Given the description of an element on the screen output the (x, y) to click on. 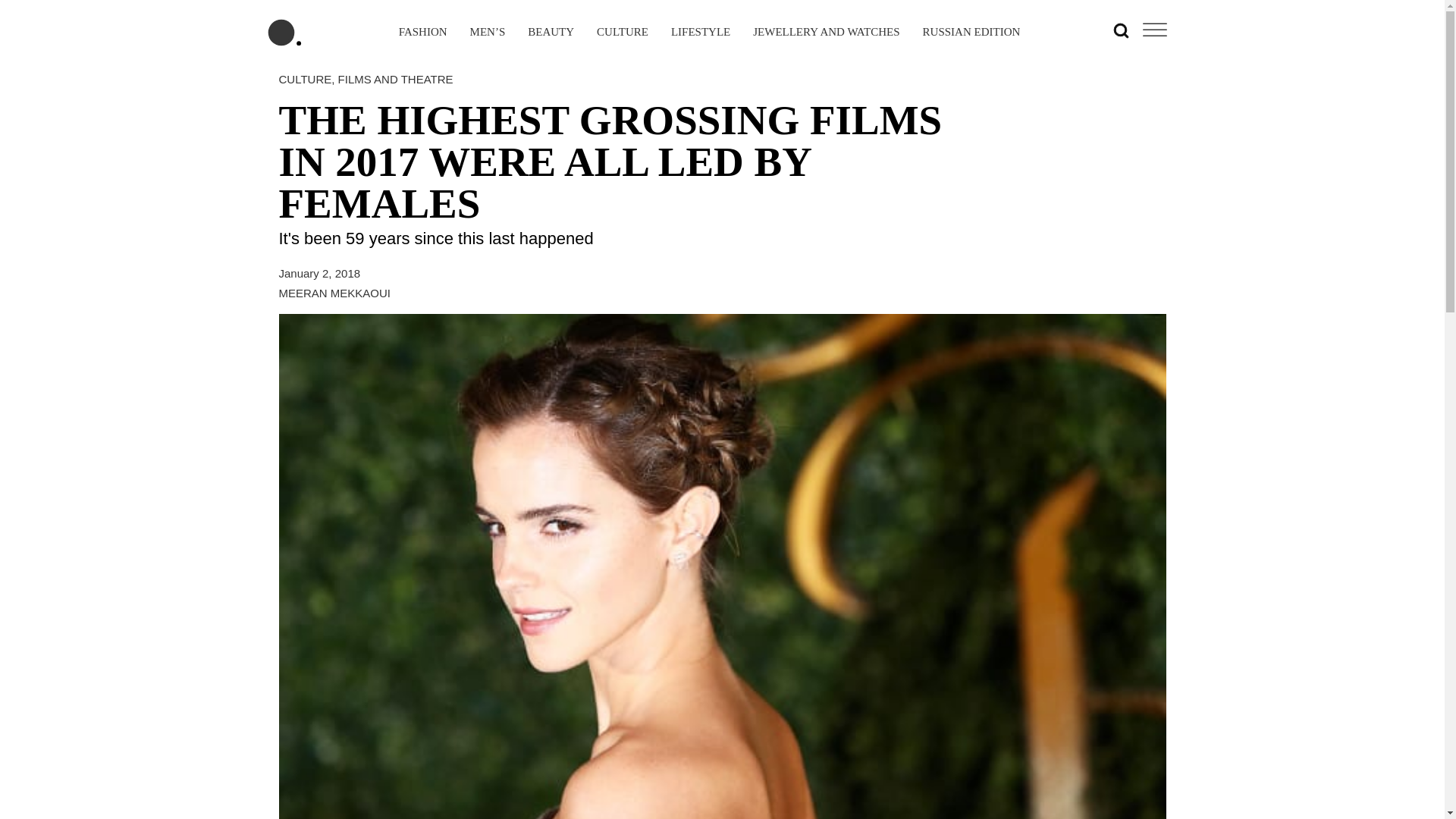
LIFESTYLE (700, 32)
MEERAN MEKKAOUI (335, 292)
CULTURE (621, 32)
FILMS AND THEATRE (394, 78)
CULTURE (305, 78)
BEAUTY (550, 32)
FASHION (422, 32)
JEWELLERY AND WATCHES (825, 32)
